Given the description of an element on the screen output the (x, y) to click on. 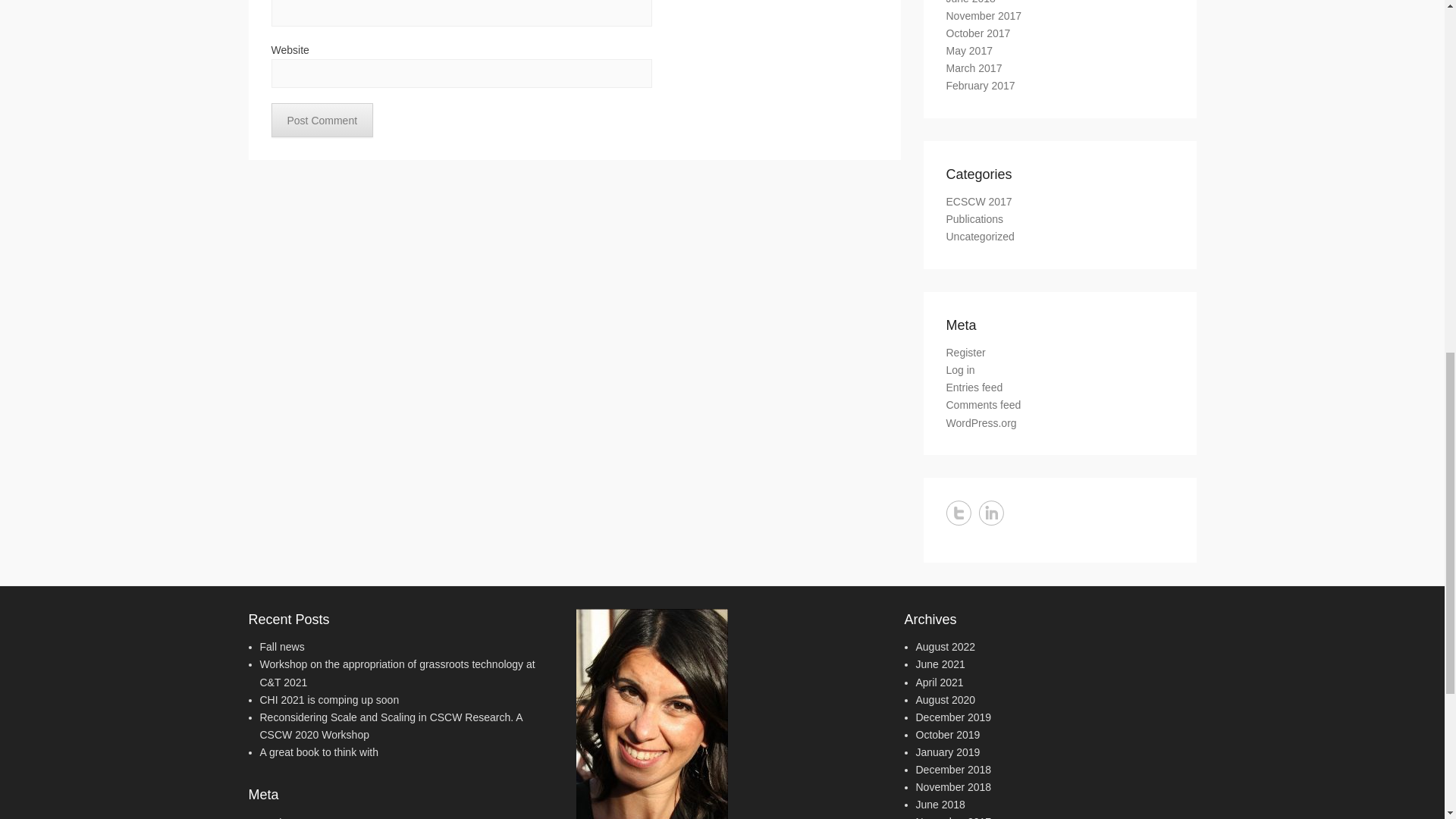
Post Comment (322, 120)
Twitter (958, 512)
LinkedIn (990, 512)
Post Comment (322, 120)
